Given the description of an element on the screen output the (x, y) to click on. 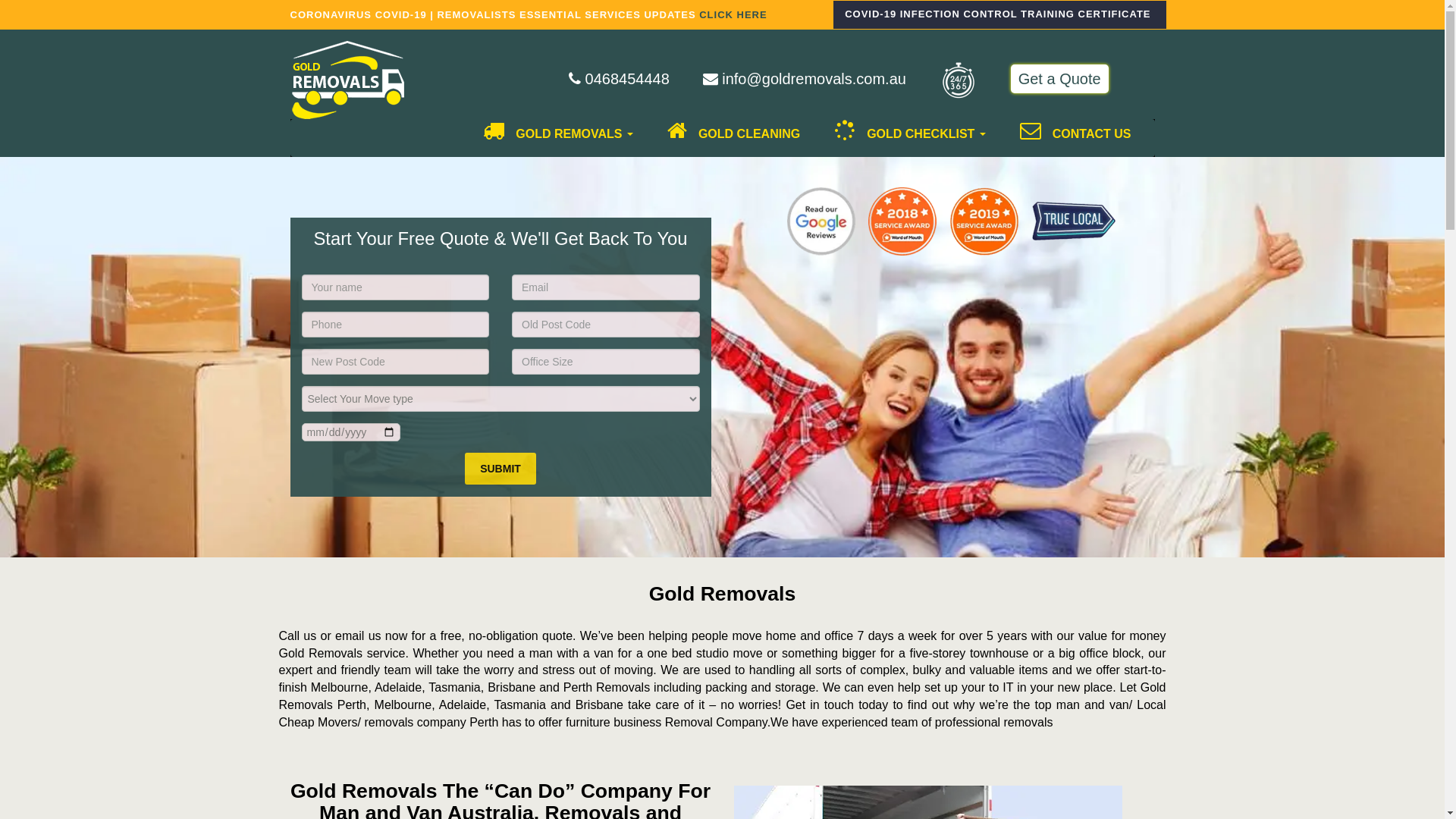
Get a Quote Element type: text (1059, 79)
0468454448 Element type: text (618, 78)
Get a Quote Element type: text (1059, 80)
info@goldremovals.com.au Element type: text (804, 78)
SUBMIT Element type: text (500, 468)
GOLD CHECKLIST Element type: text (904, 137)
CONTACT US Element type: text (1069, 137)
GOLD CLEANING Element type: text (727, 137)
GOLD REMOVALS Element type: text (552, 137)
COVID-19 INFECTION CONTROL TRAINING CERTIFICATE Element type: text (999, 14)
